Given the description of an element on the screen output the (x, y) to click on. 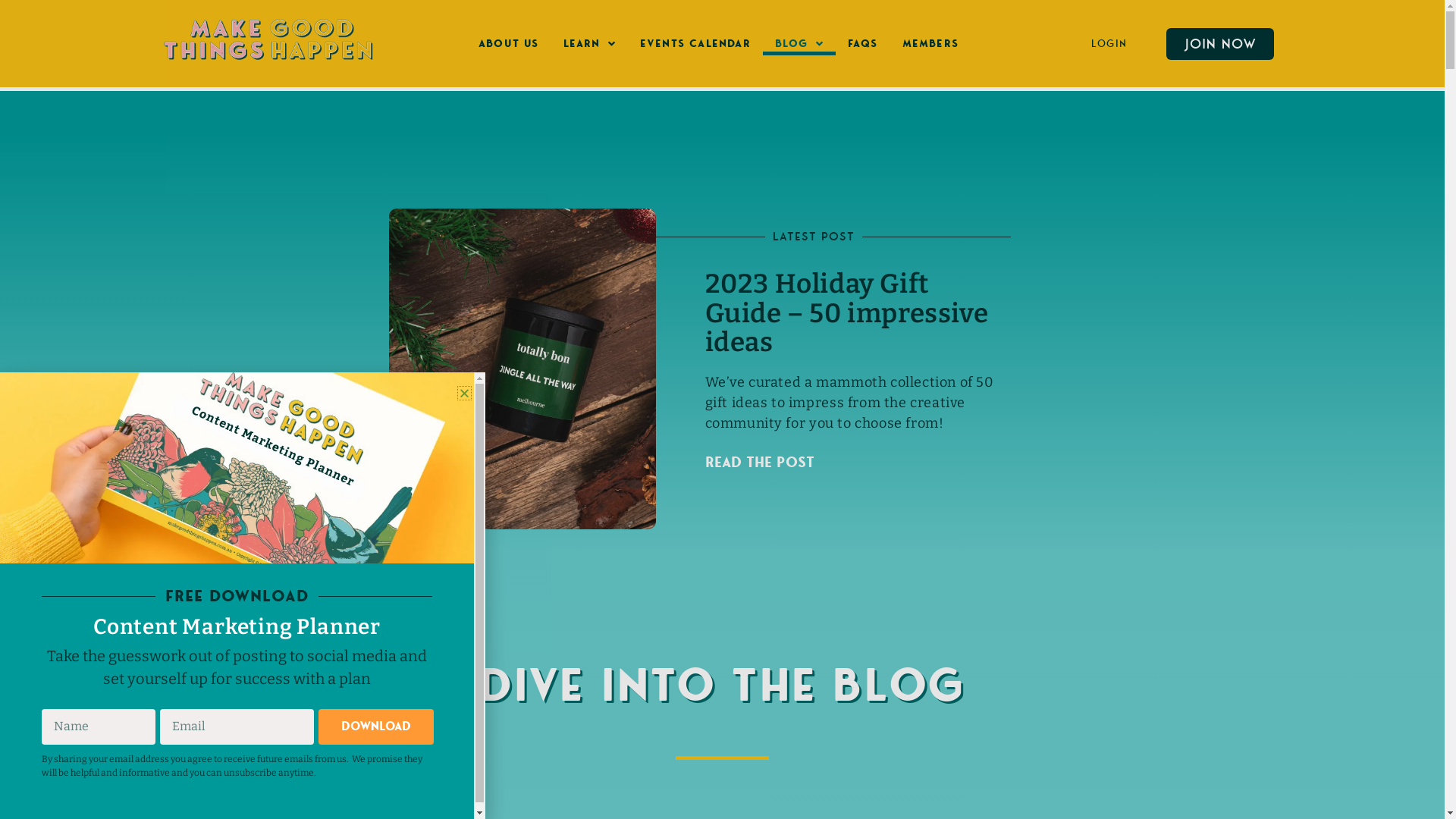
Events Calendar Element type: text (694, 42)
FAQs Element type: text (862, 42)
READ THE POST Element type: text (759, 461)
Learn Element type: text (589, 42)
About Us Element type: text (508, 42)
JOIN NOW Element type: text (1220, 43)
Login Element type: text (1109, 43)
Blog Element type: text (798, 42)
Members Element type: text (930, 42)
DOWNLOAD Element type: text (375, 726)
